Given the description of an element on the screen output the (x, y) to click on. 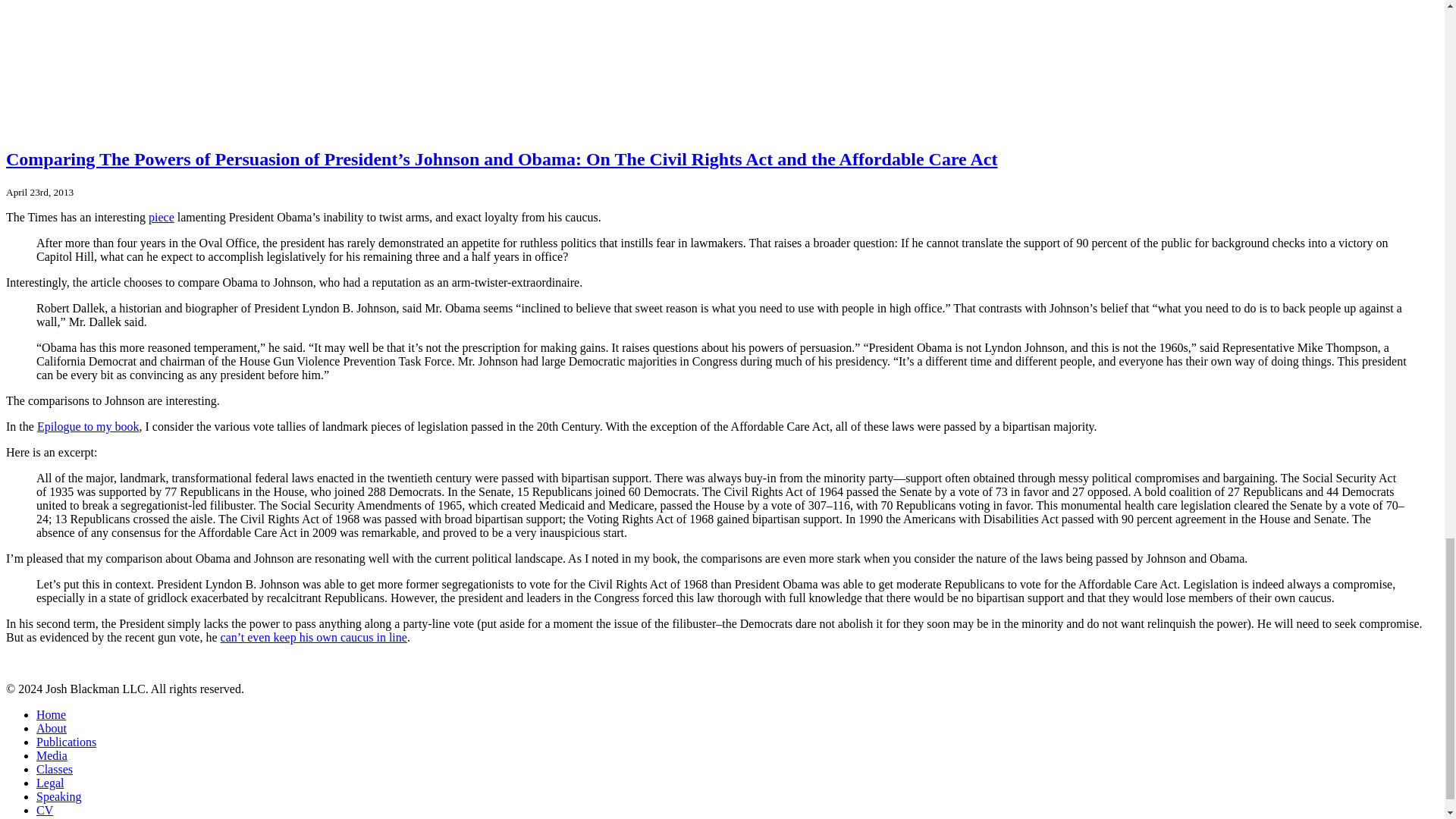
piece (161, 216)
Epilogue to my book (88, 426)
Home (50, 714)
Media (51, 755)
Legal (50, 782)
CV (44, 809)
Speaking (58, 796)
Classes (54, 768)
About (51, 727)
Publications (66, 741)
